Given the description of an element on the screen output the (x, y) to click on. 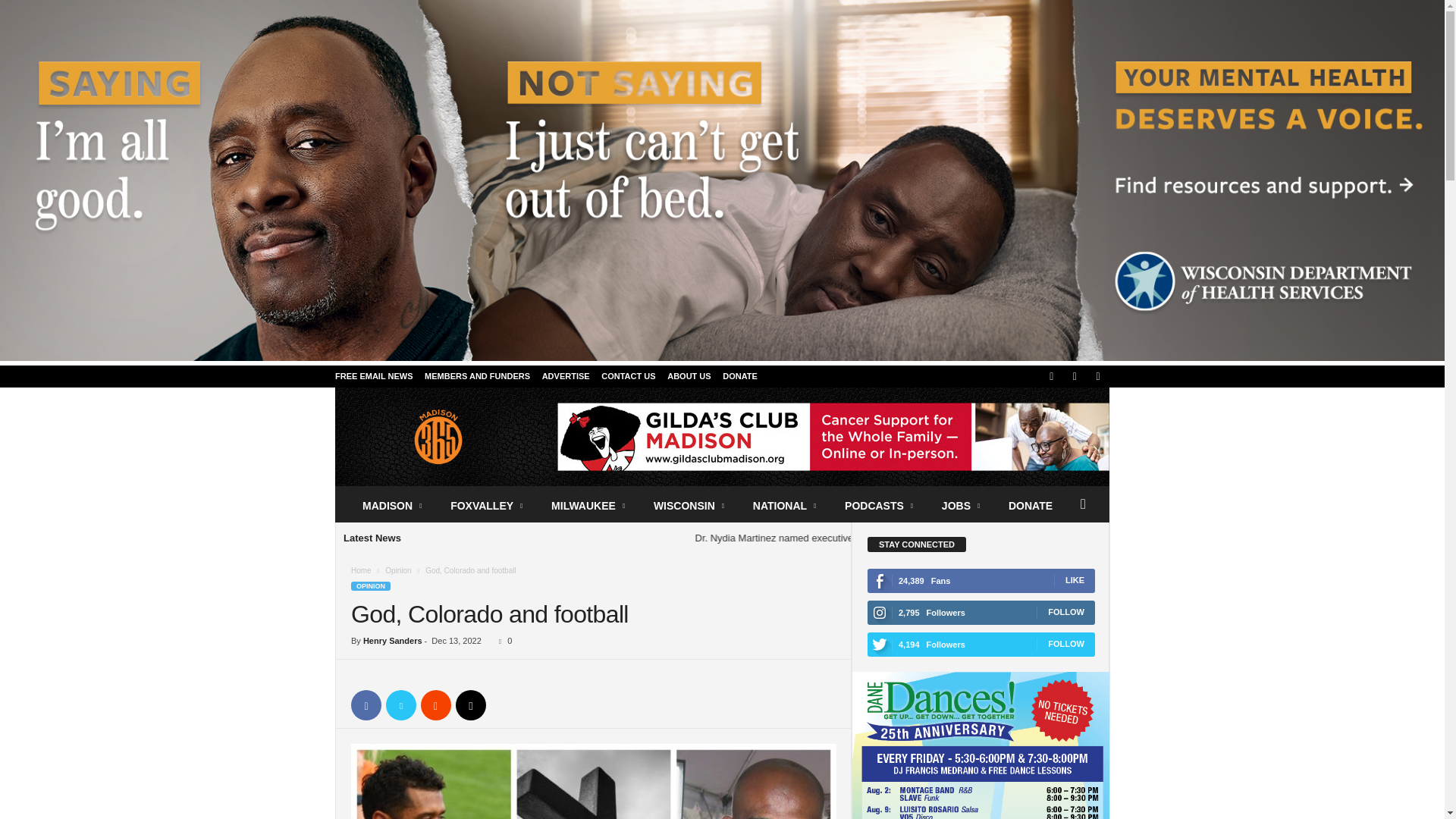
DONATE (739, 375)
MADISON (392, 505)
FREE EMAIL NEWS (373, 375)
MEMBERS AND FUNDERS (477, 375)
ABOUT US (688, 375)
Madison365 (437, 436)
ADVERTISE (565, 375)
CONTACT US (628, 375)
